Given the description of an element on the screen output the (x, y) to click on. 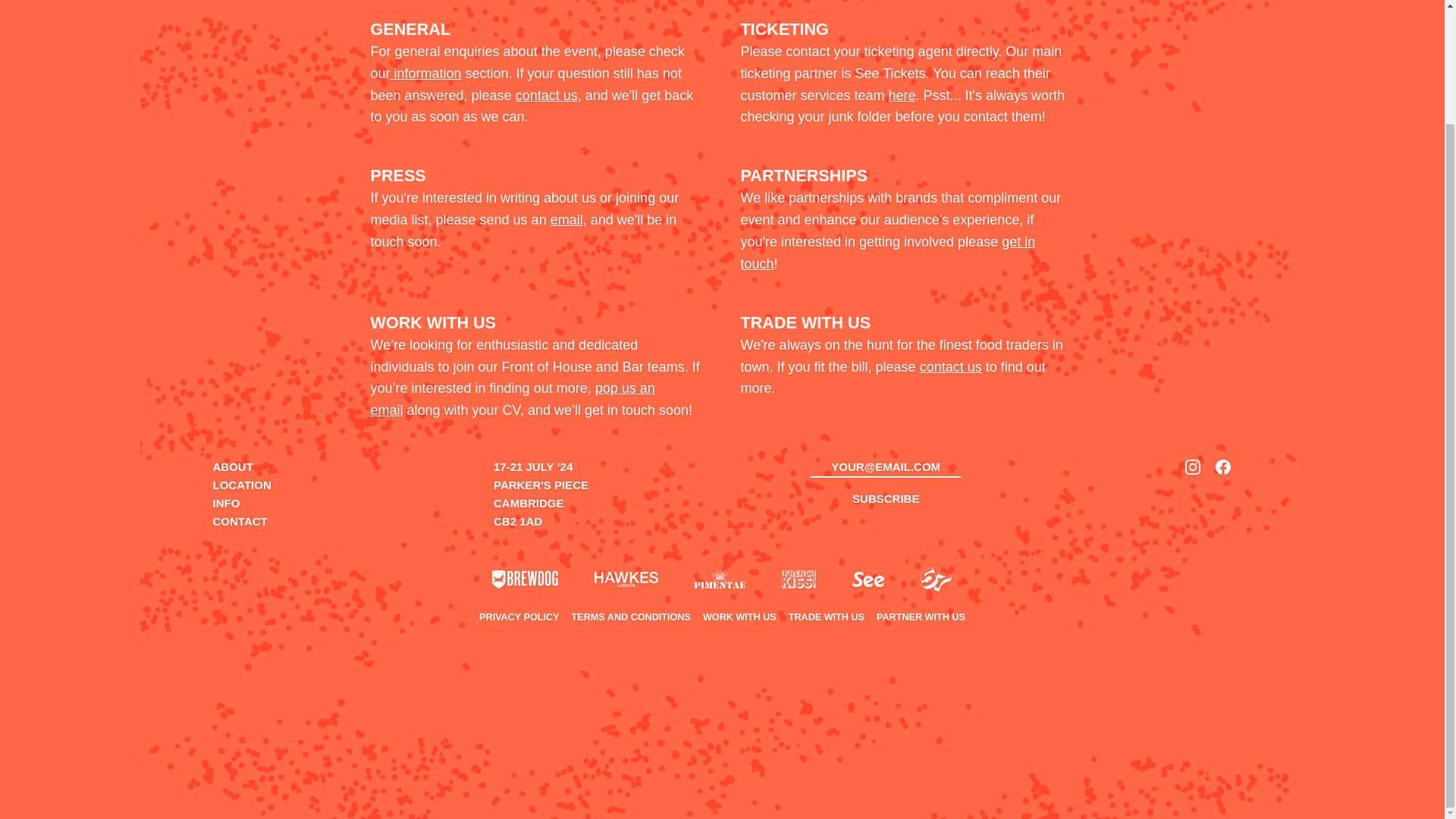
email (566, 219)
 information (425, 73)
contact us (546, 95)
FACEBOOK (1221, 466)
contact us (950, 366)
LOCATION (241, 484)
INSTAGRAM (1191, 466)
INFO (226, 502)
here (901, 95)
get in touch (887, 252)
CONTACT (239, 521)
ABOUT (231, 466)
pop us an email (511, 398)
SUBSCRIBE (885, 499)
